Given the description of an element on the screen output the (x, y) to click on. 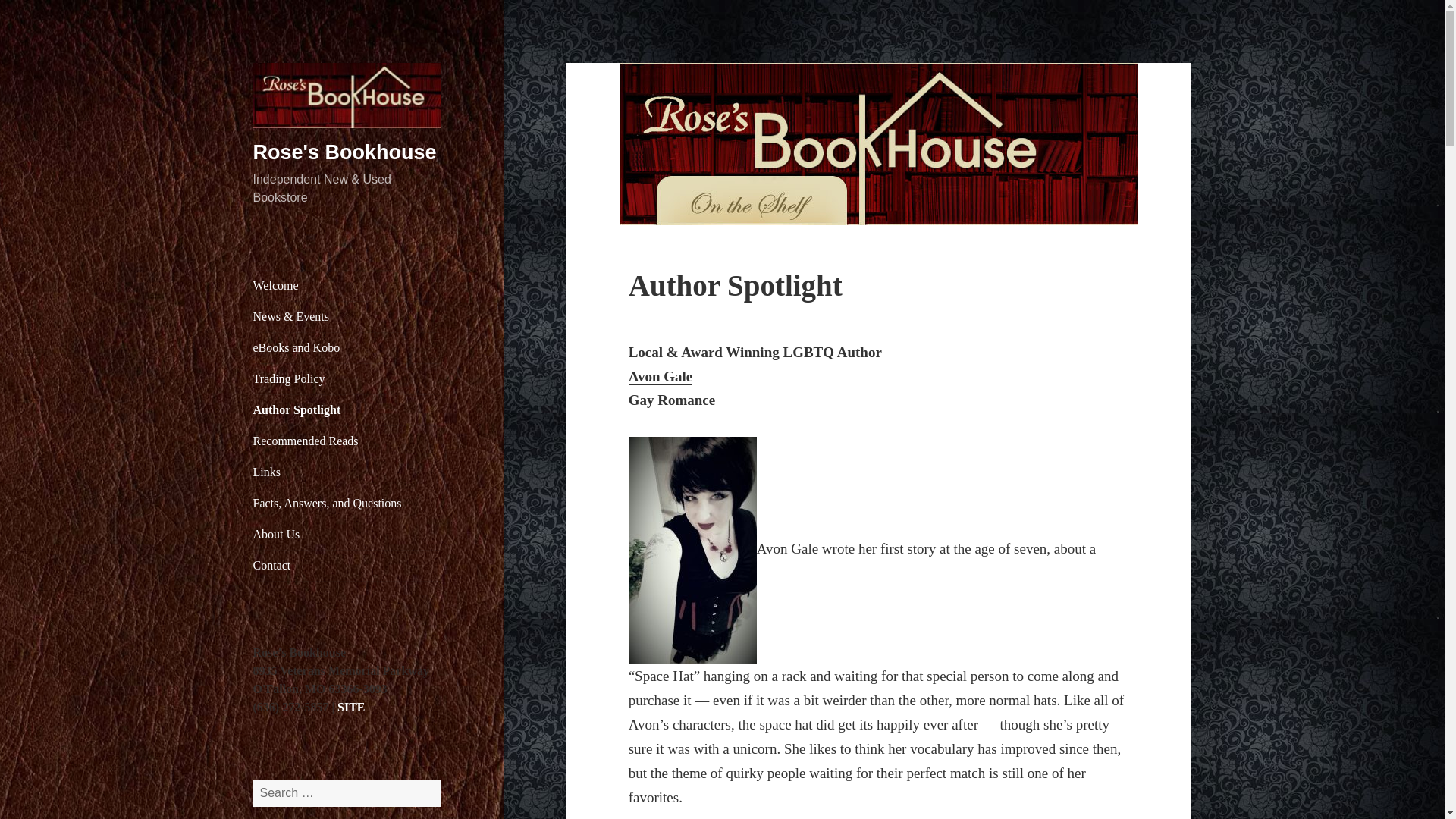
Links (347, 472)
Rose's Bookhouse (344, 151)
Contact (347, 565)
Recommended Reads (347, 440)
eBooks and Kobo (347, 347)
Trading Policy (347, 378)
SITE (351, 707)
Facts, Answers, and Questions (347, 503)
Avon Gale (755, 388)
About Us (347, 534)
Welcome (347, 286)
Author Spotlight (347, 409)
